Given the description of an element on the screen output the (x, y) to click on. 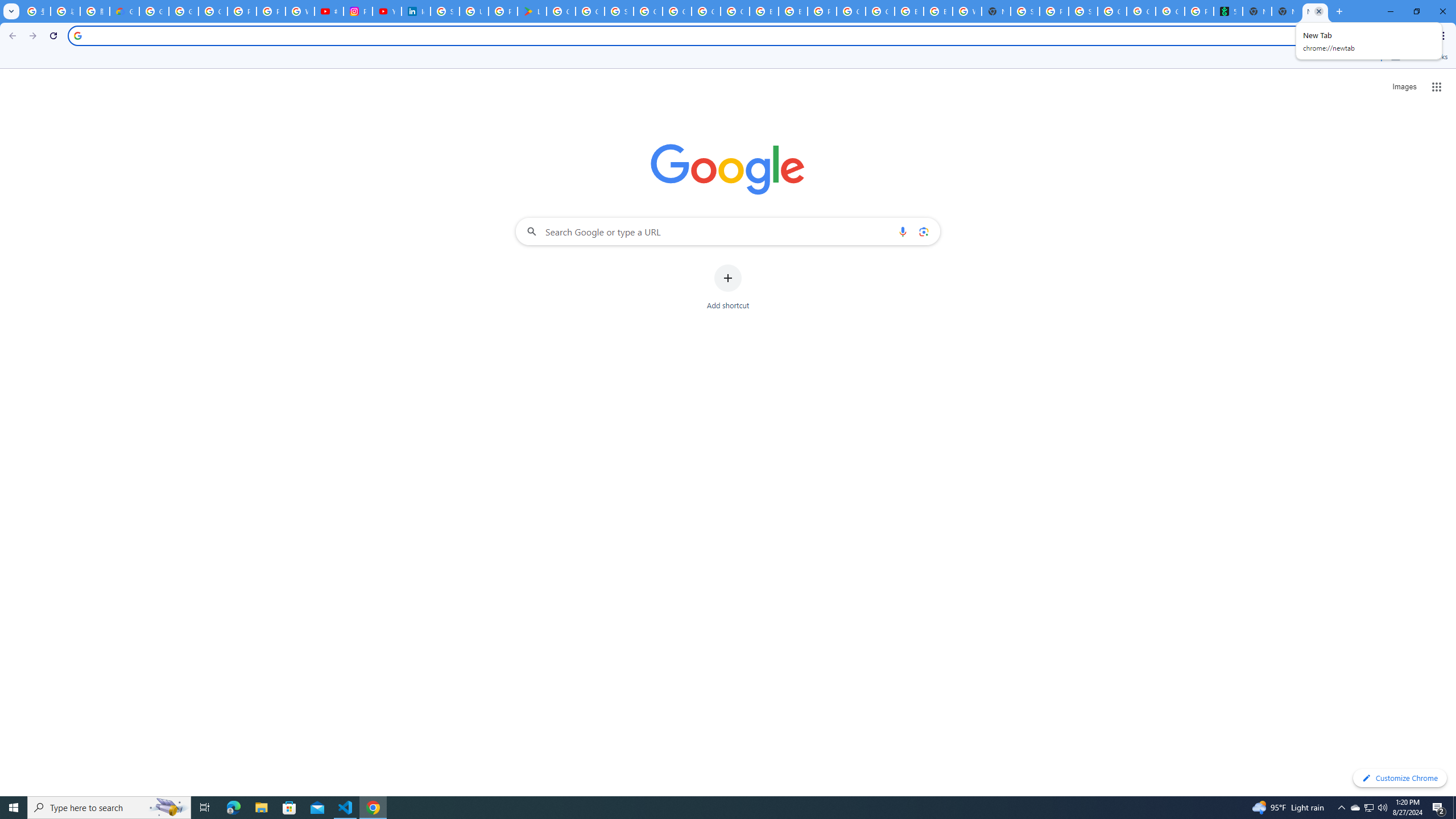
Bookmarks (728, 58)
Browse Chrome as a guest - Computer - Google Chrome Help (908, 11)
